Given the description of an element on the screen output the (x, y) to click on. 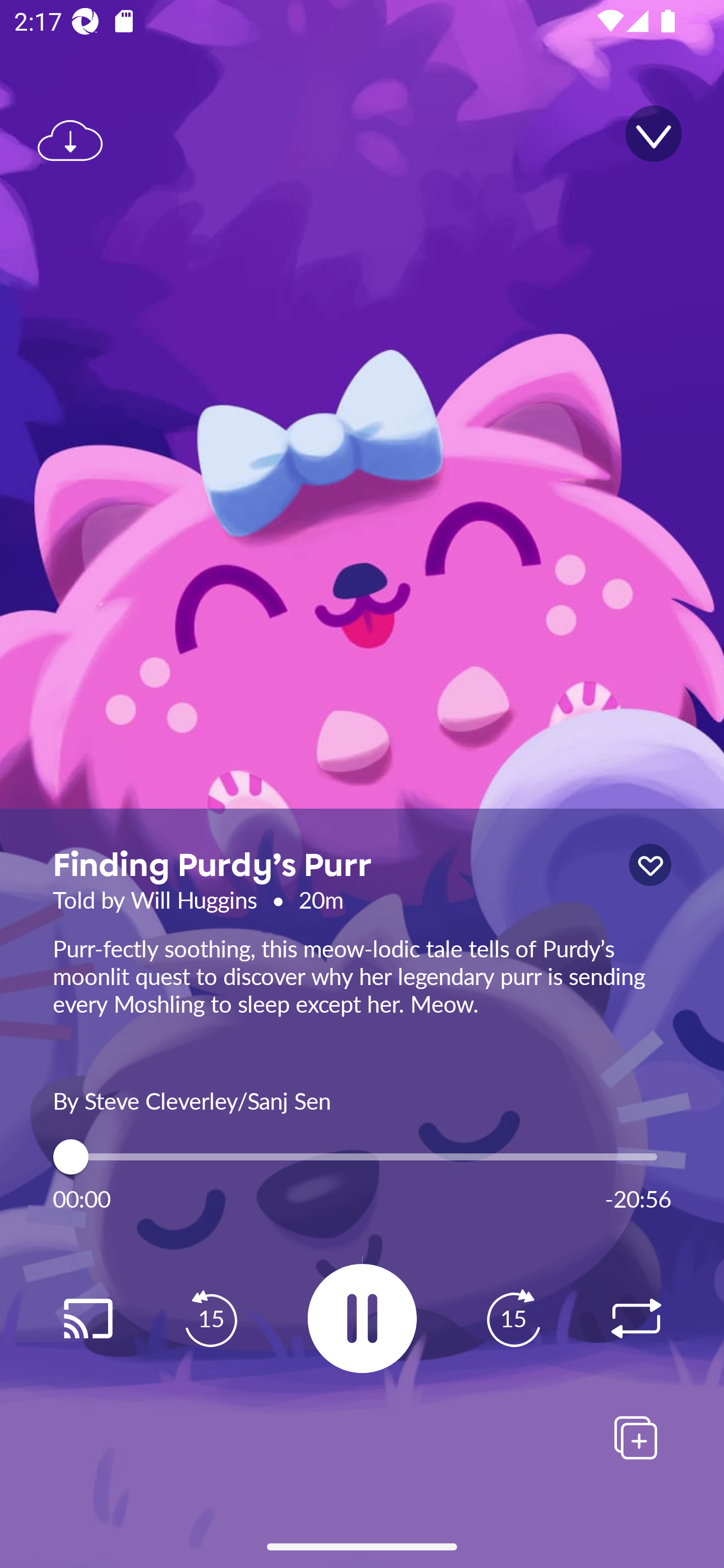
lock icon (650, 865)
By Steve Cleverley/Sanj Sen (361, 1098)
7.891806E-4 Pause (361, 1317)
Replay (87, 1318)
Replay 15 (210, 1318)
Replay 15 (513, 1318)
Replay (635, 1318)
Add To Playlists (635, 1437)
